Given the description of an element on the screen output the (x, y) to click on. 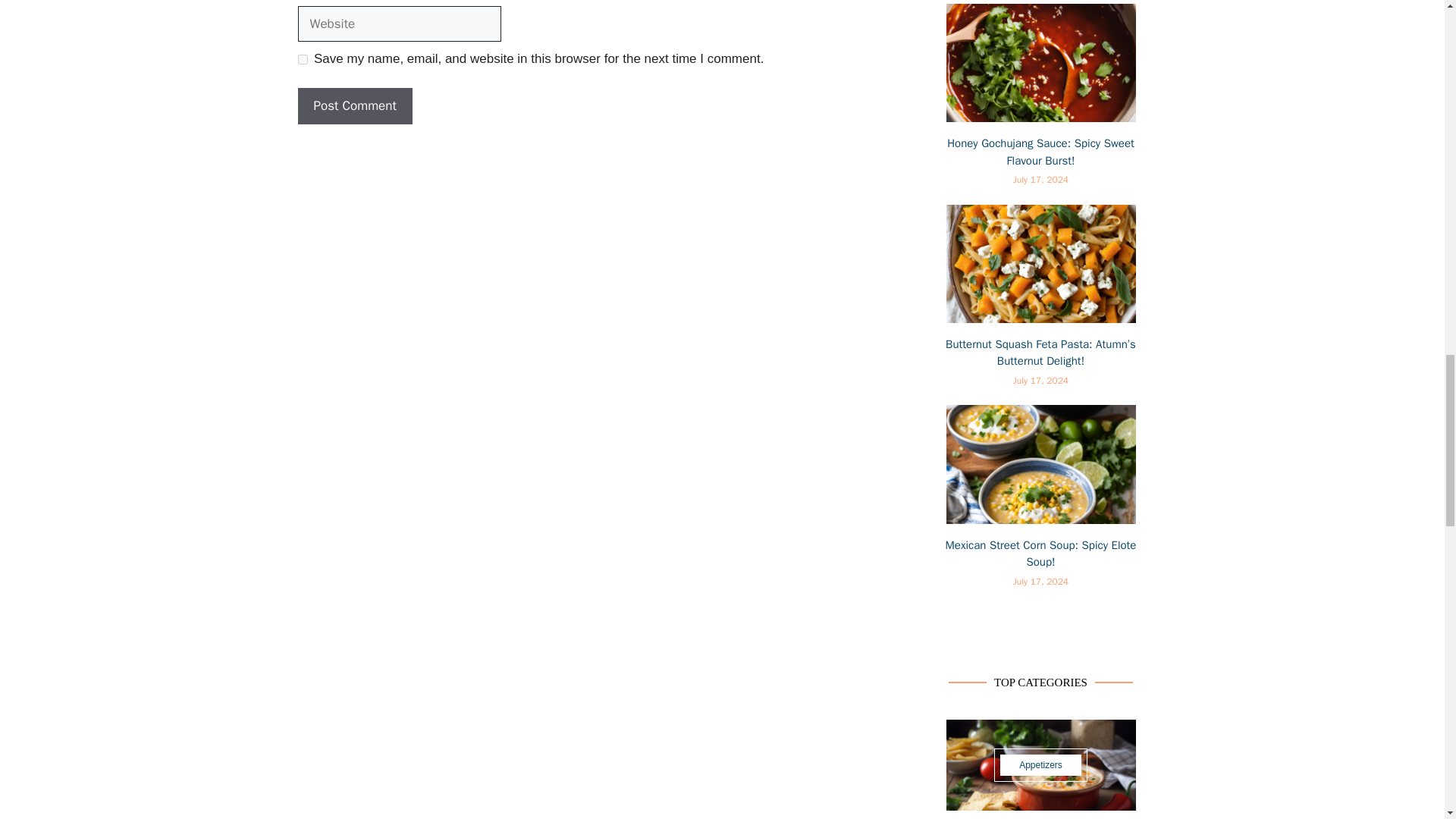
Post Comment (354, 105)
yes (302, 59)
